Given the description of an element on the screen output the (x, y) to click on. 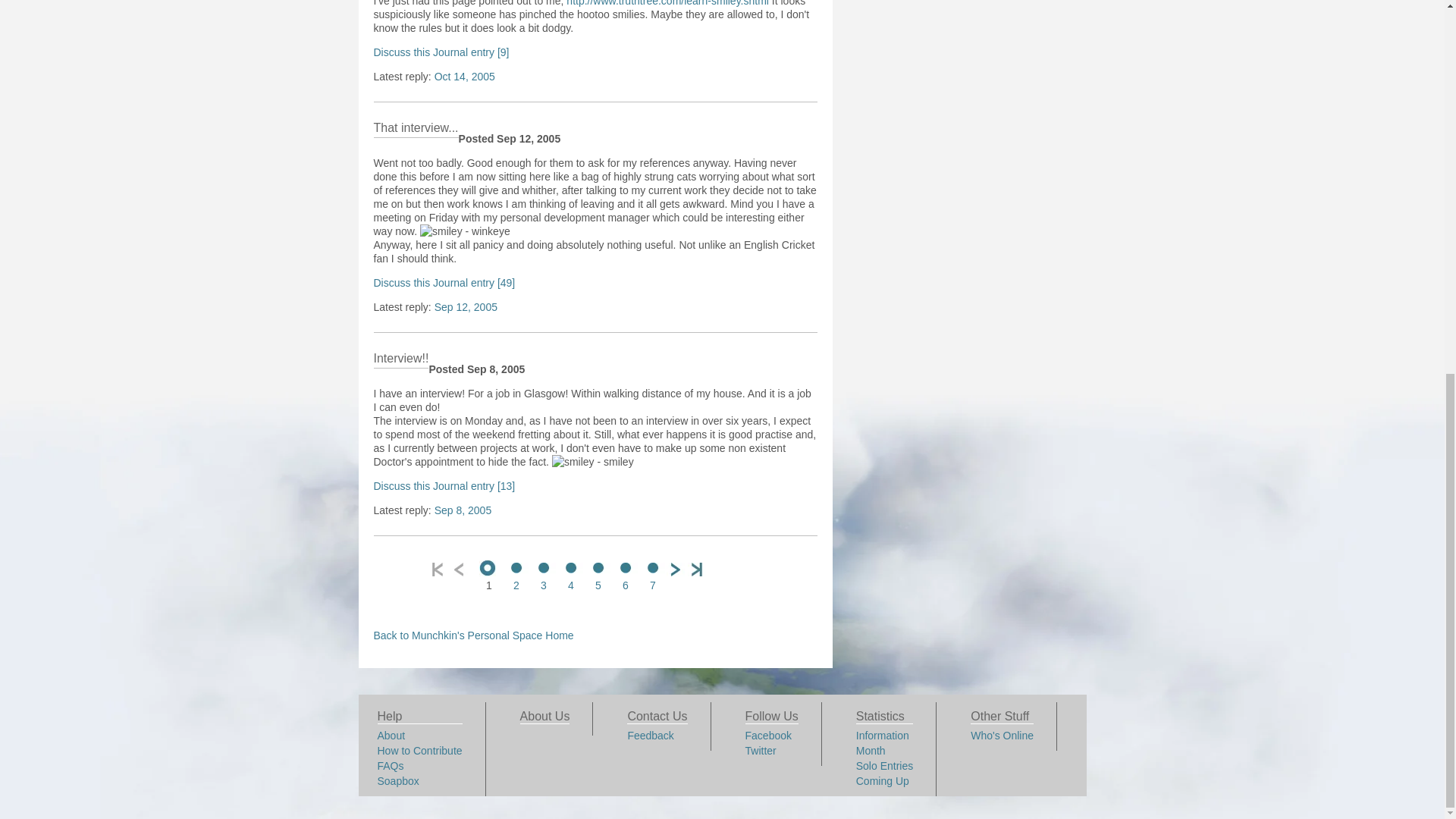
Sep 8, 2005 (462, 510)
Feedback (649, 735)
Coming Up (882, 780)
Solo Entries (884, 766)
3 (543, 577)
Twitter (760, 750)
winkeye (465, 231)
Information (882, 735)
2 (515, 577)
Facebook (768, 735)
